Given the description of an element on the screen output the (x, y) to click on. 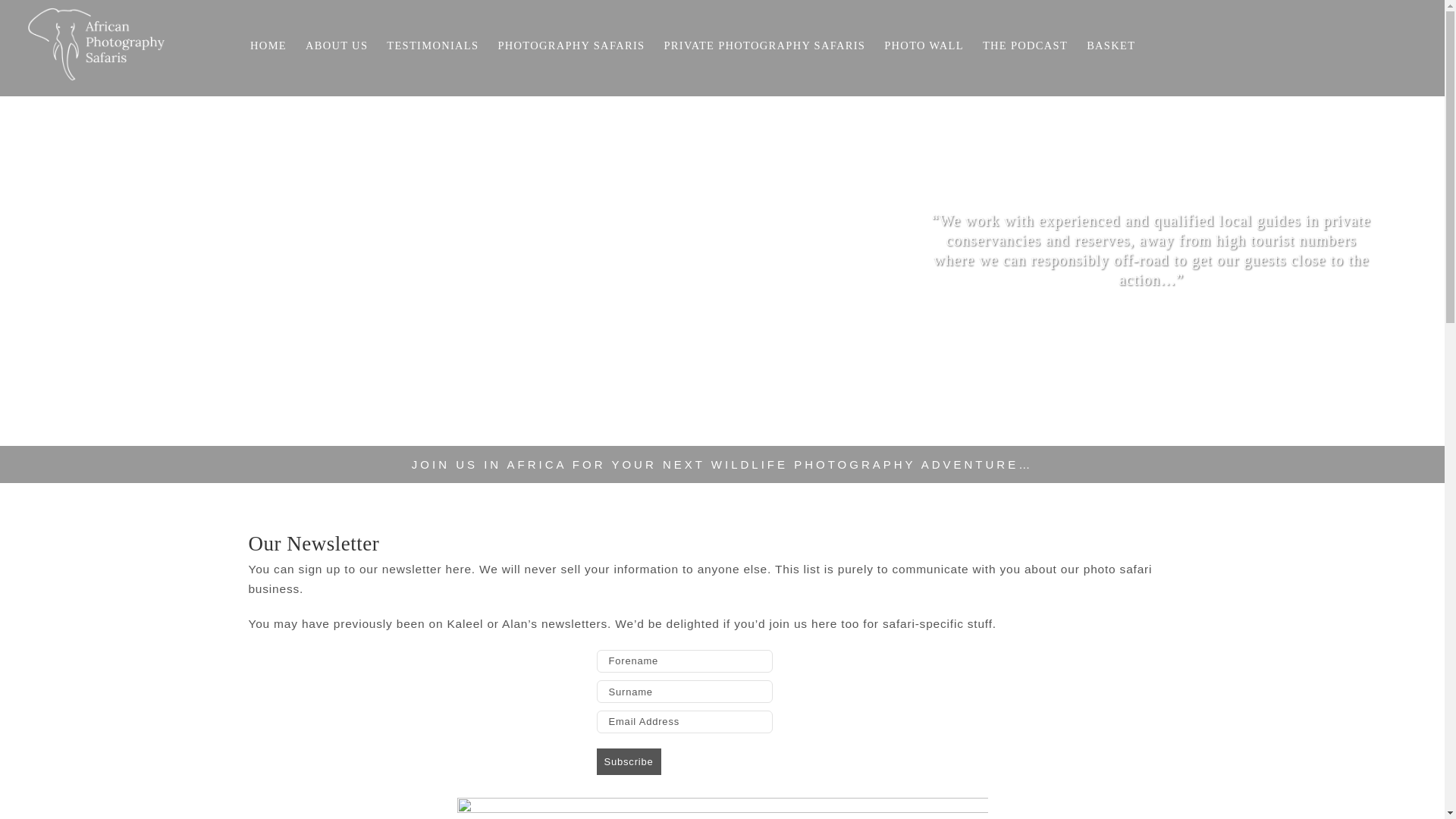
Subscribe (628, 761)
PRIVATE PHOTOGRAPHY SAFARIS (763, 45)
PHOTO WALL (923, 45)
BASKET (1110, 45)
THE PODCAST (1024, 45)
TESTIMONIALS (433, 45)
Subscribe (628, 761)
HOME (268, 45)
PHOTOGRAPHY SAFARIS (571, 45)
EXPLORE (1151, 329)
ABOUT US (336, 45)
